Given the description of an element on the screen output the (x, y) to click on. 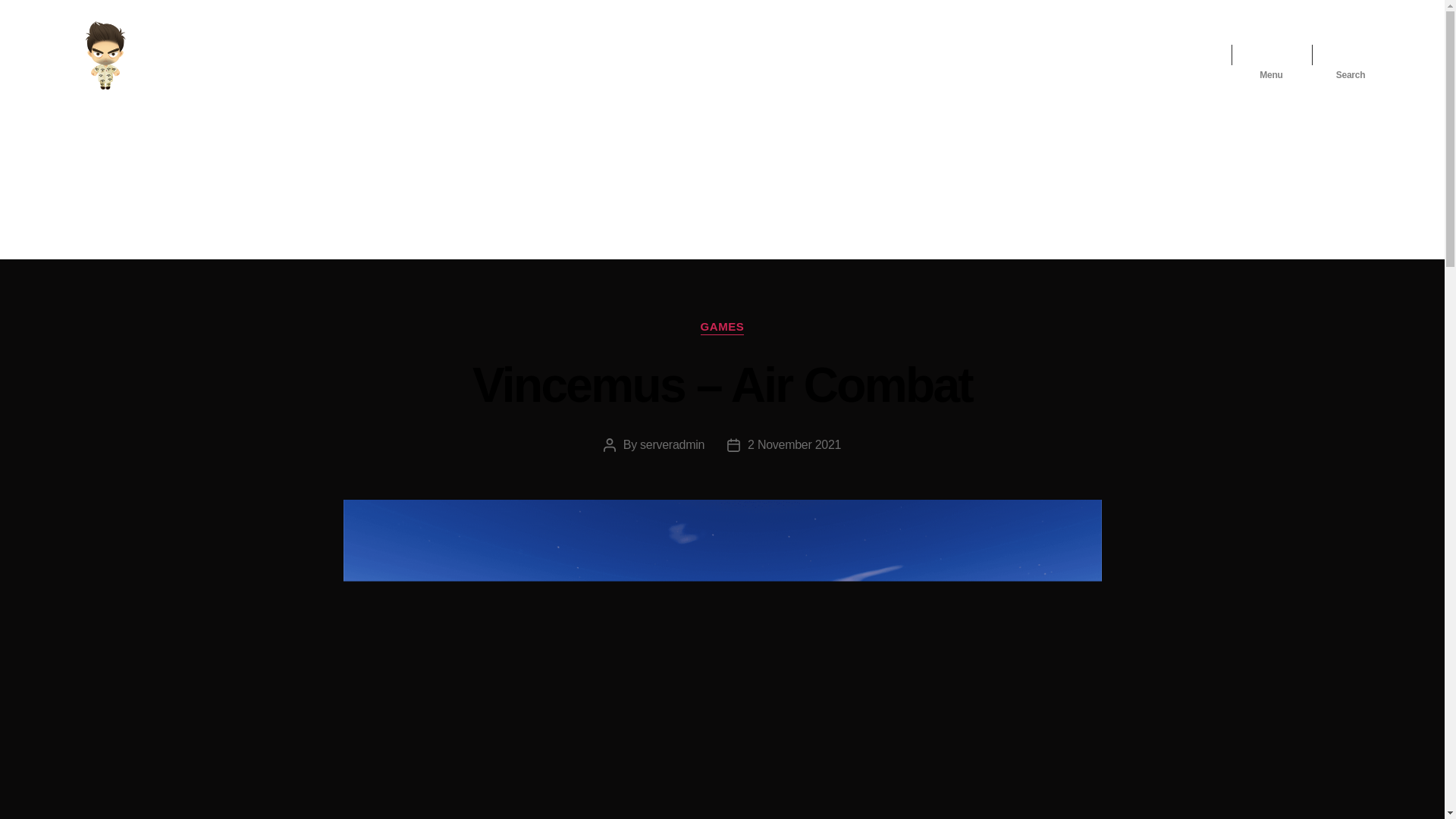
Blog (1124, 54)
About (1075, 54)
Search (1350, 55)
Home (1021, 54)
Contact (1178, 54)
serveradmin (672, 444)
2 November 2021 (794, 444)
GAMES (722, 327)
Menu (1271, 55)
